Given the description of an element on the screen output the (x, y) to click on. 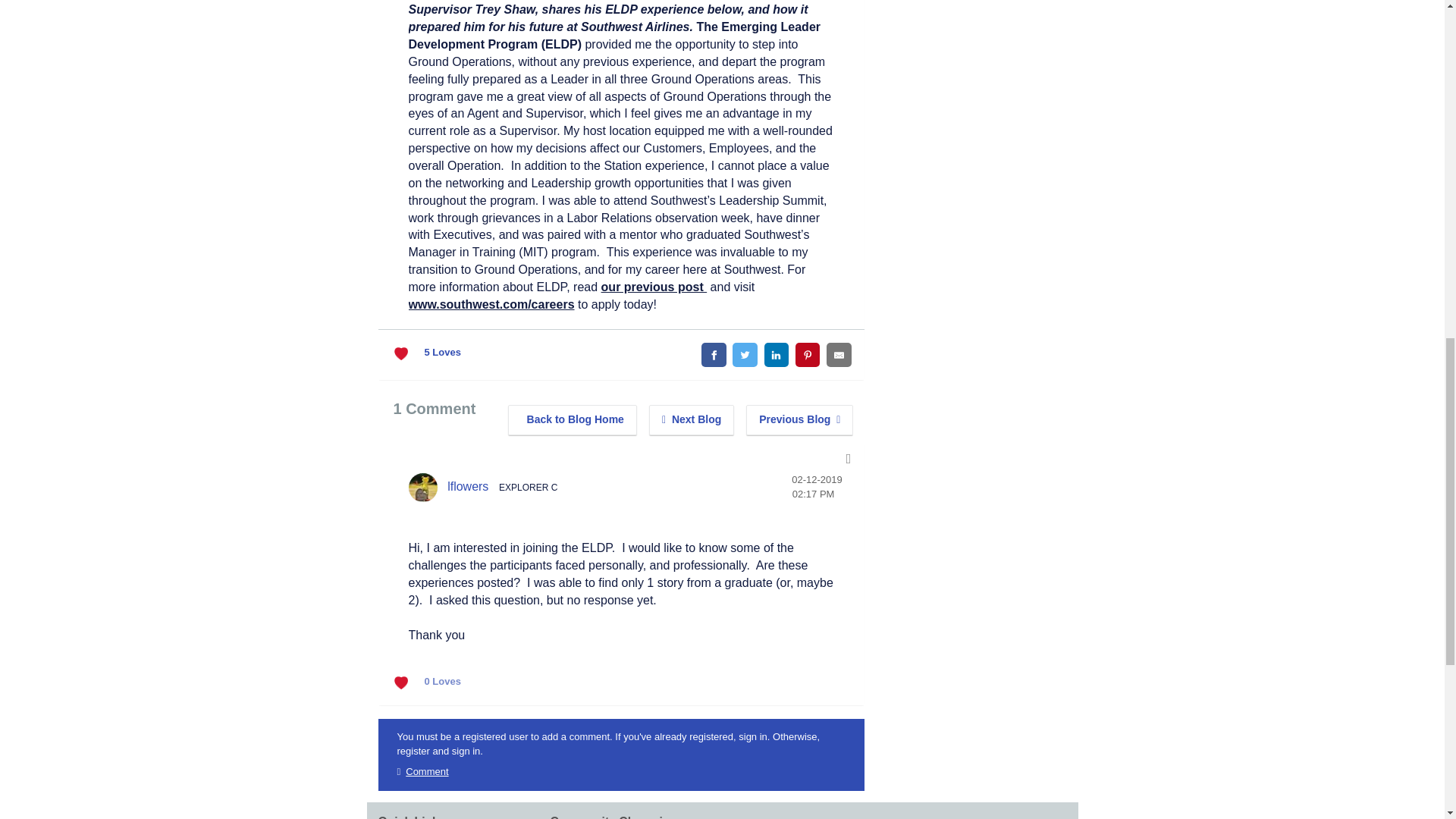
Blog (572, 419)
Flashback Fridays: Closing the Triangle (691, 419)
5 Loves (442, 352)
our previous post (654, 286)
lflowers (421, 487)
Show option menu (848, 458)
Click here to give loves to this post. (403, 354)
The total number of loves this post has received. (442, 681)
Click here to see who gave loves to this post. (442, 352)
Posted on (817, 486)
